Given the description of an element on the screen output the (x, y) to click on. 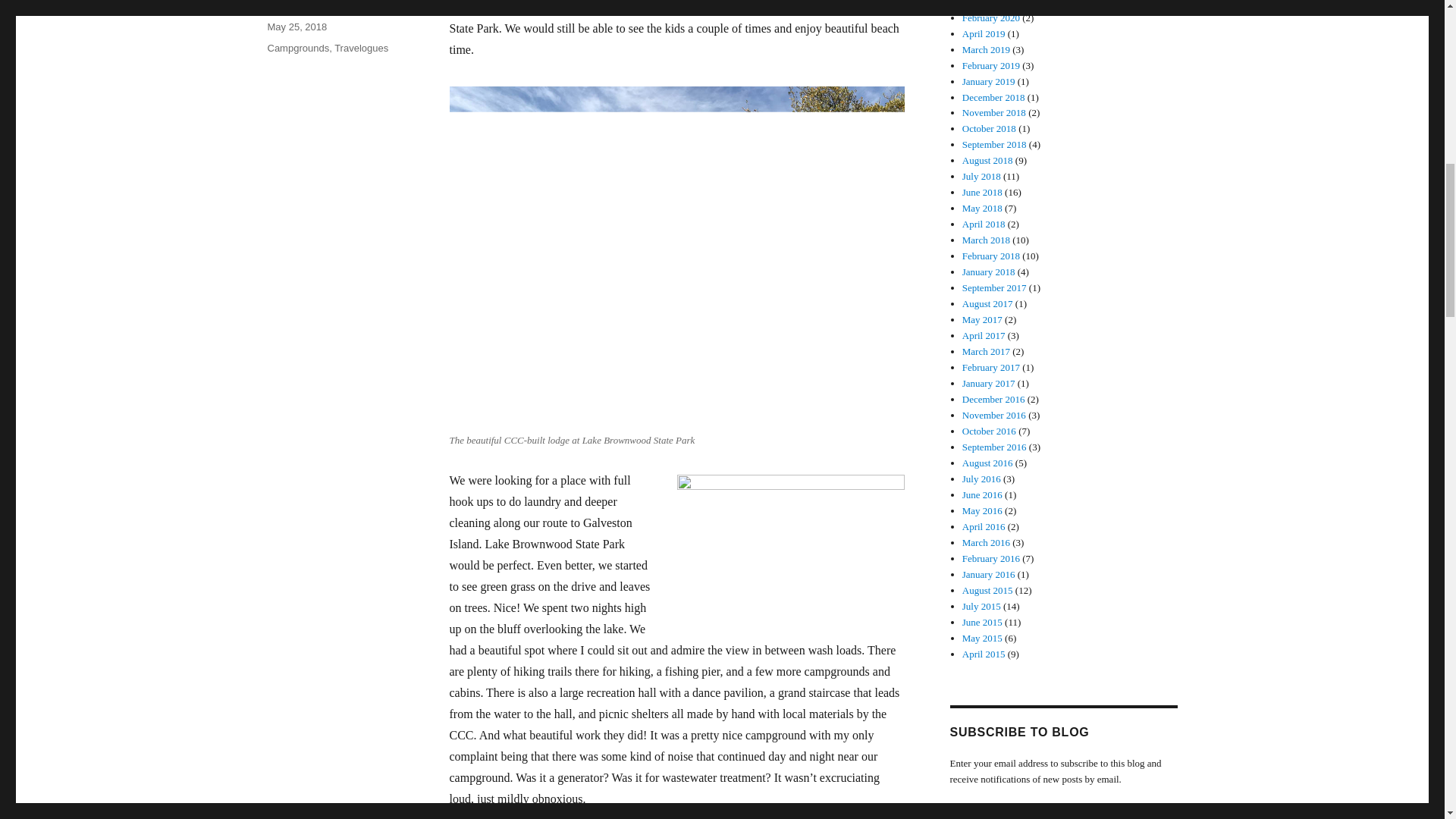
Campgrounds (297, 48)
May 25, 2018 (296, 26)
Oma (277, 5)
Travelogues (361, 48)
